Given the description of an element on the screen output the (x, y) to click on. 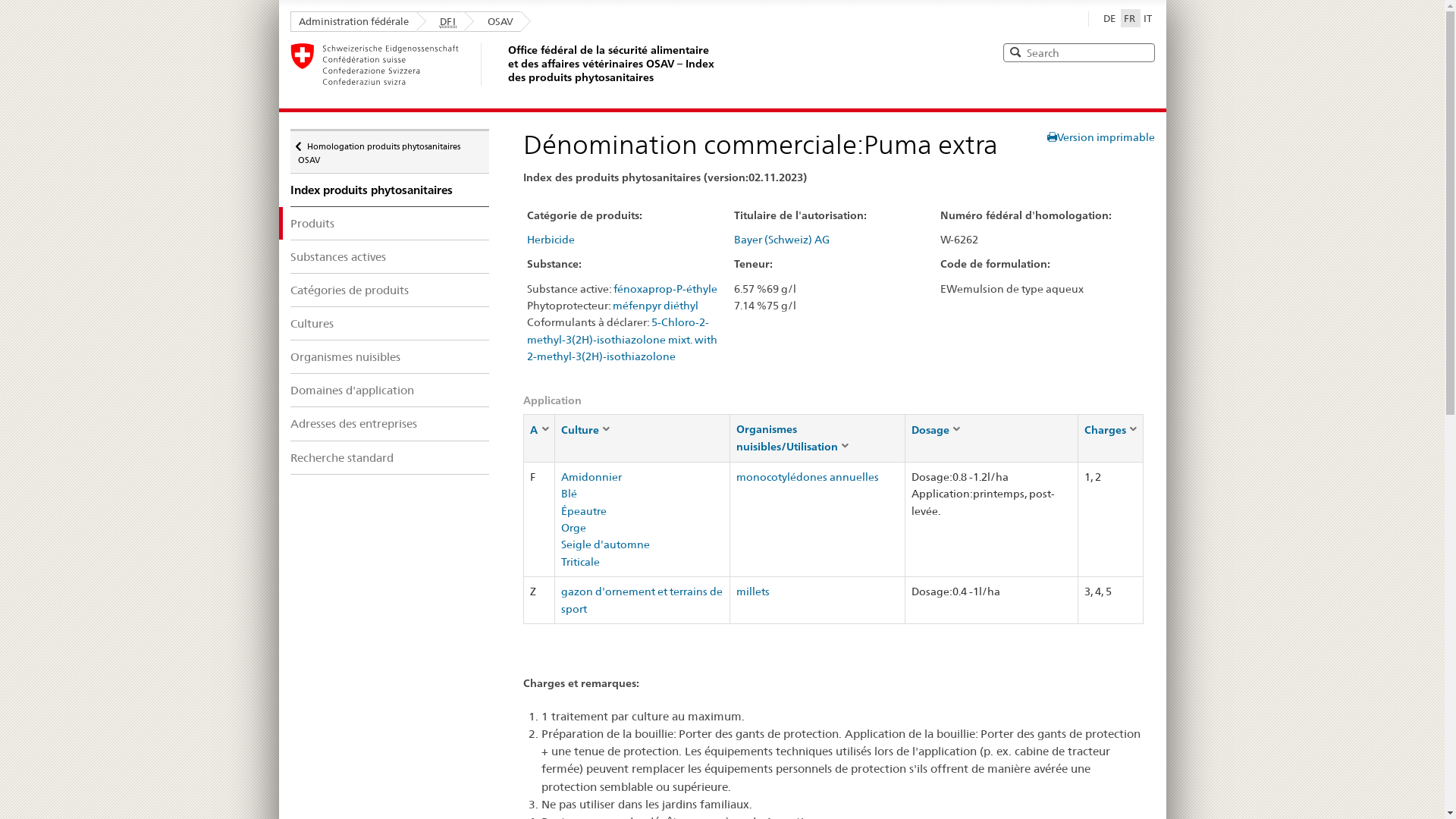
FR
selected Element type: text (1130, 18)
Seigle d'automne Element type: text (605, 544)
DFI Element type: text (439, 21)
Produits Element type: text (389, 223)
IT Element type: text (1147, 18)
Triticale Element type: text (580, 561)
OSAV Element type: text (492, 21)
Bayer (Schweiz) AG Element type: text (781, 239)
Cultures Element type: text (389, 323)
Herbicide Element type: text (550, 239)
Recherche standard Element type: text (389, 457)
Homologation produits phytosanitaires OSAV Element type: text (389, 150)
Orge Element type: text (573, 527)
Index produits phytosanitaires Element type: text (389, 190)
millets Element type: text (752, 591)
Amidonnier Element type: text (591, 476)
Version imprimable Element type: text (1100, 136)
gazon d'ornement et terrains de sport Element type: text (641, 599)
Domaines d'application Element type: text (389, 389)
DE Element type: text (1108, 18)
Adresses des entreprises Element type: text (389, 423)
Organismes nuisibles Element type: text (389, 356)
Substances actives Element type: text (389, 256)
